Given the description of an element on the screen output the (x, y) to click on. 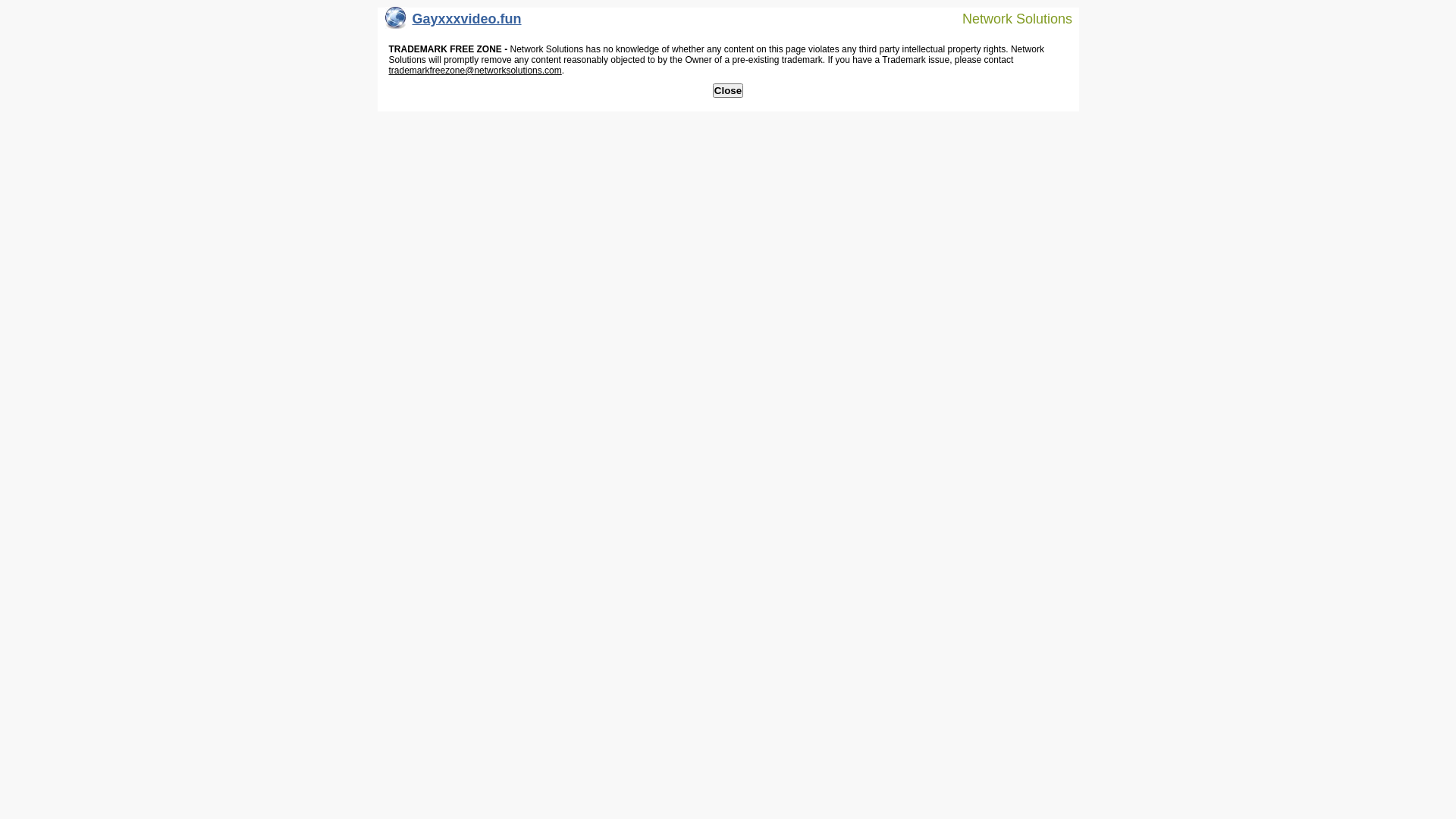
Network Solutions Element type: text (1007, 17)
trademarkfreezone@networksolutions.com Element type: text (474, 70)
Close Element type: text (727, 90)
Gayxxxvideo.fun Element type: text (453, 21)
